Given the description of an element on the screen output the (x, y) to click on. 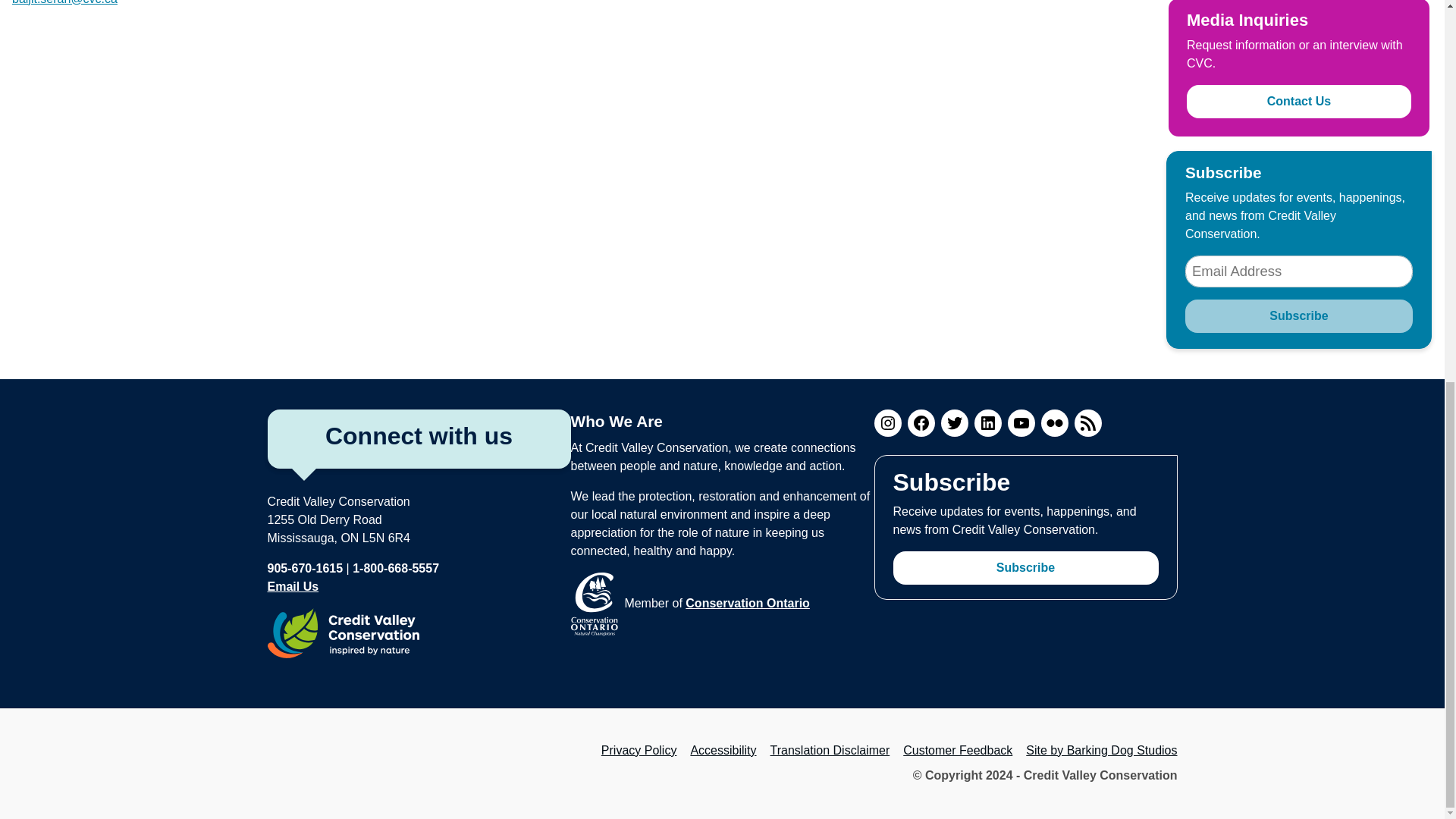
Subscribe (1298, 315)
